Given the description of an element on the screen output the (x, y) to click on. 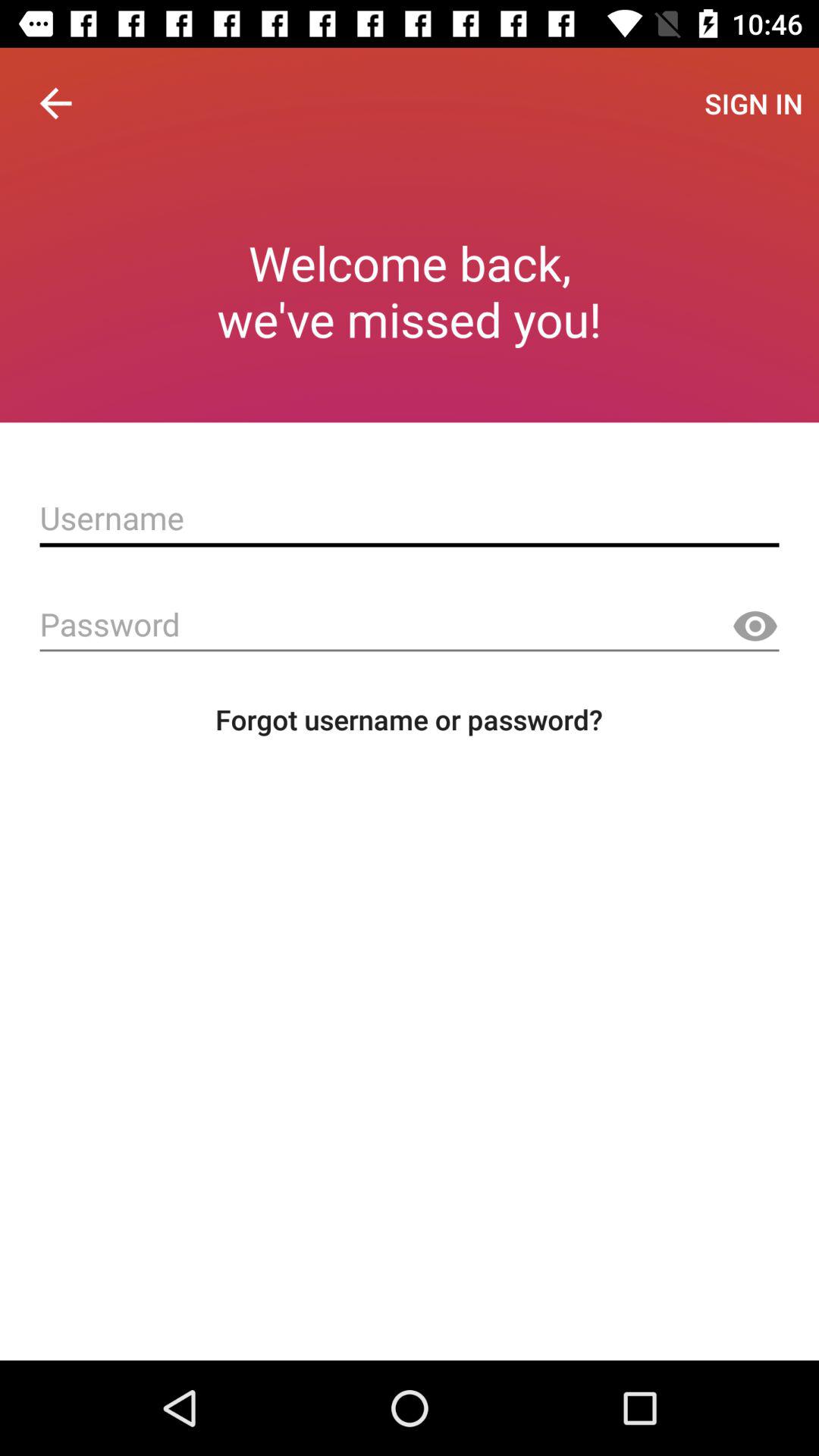
view hidden text (755, 626)
